Given the description of an element on the screen output the (x, y) to click on. 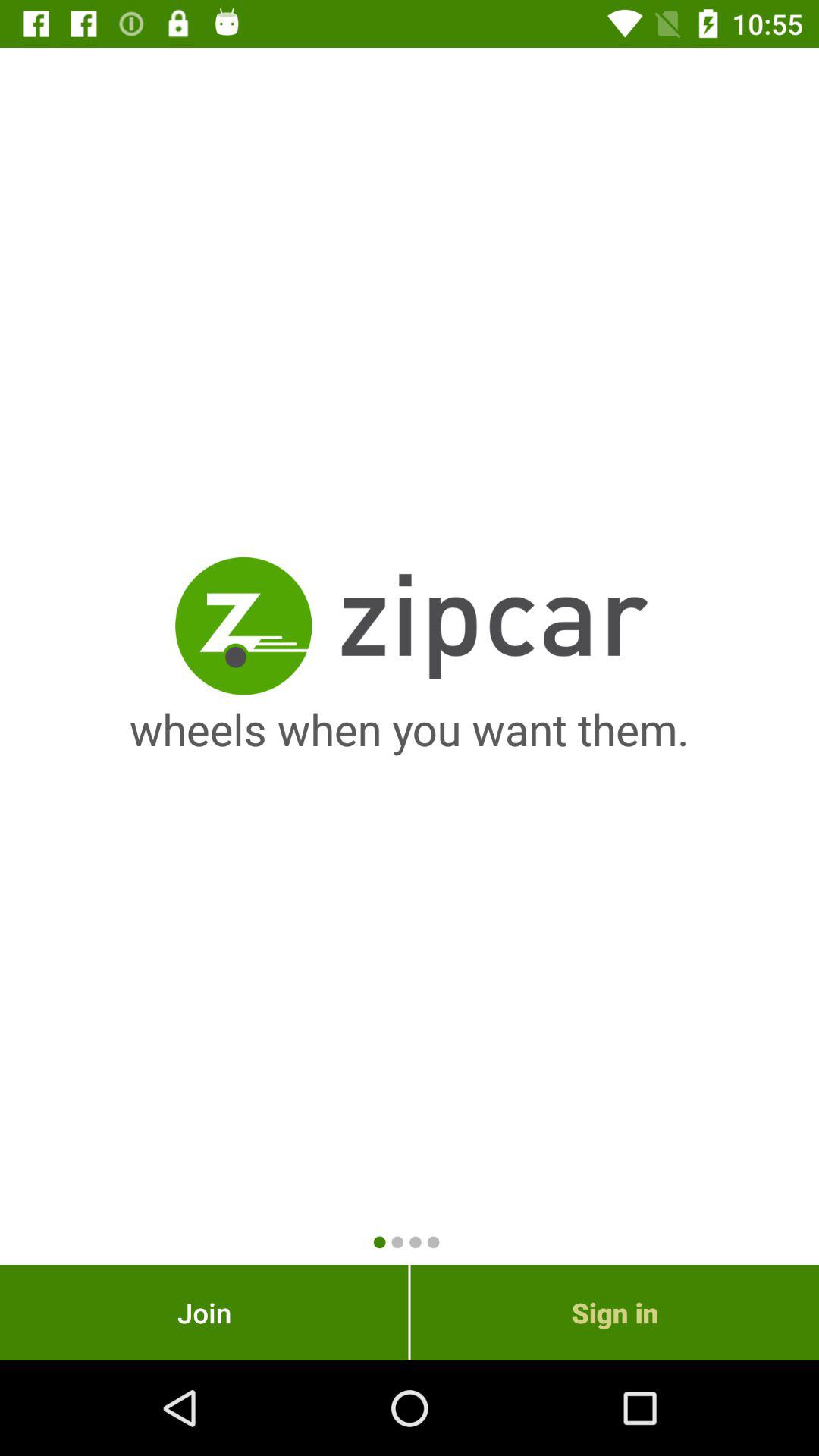
press the icon at the bottom left corner (204, 1312)
